Given the description of an element on the screen output the (x, y) to click on. 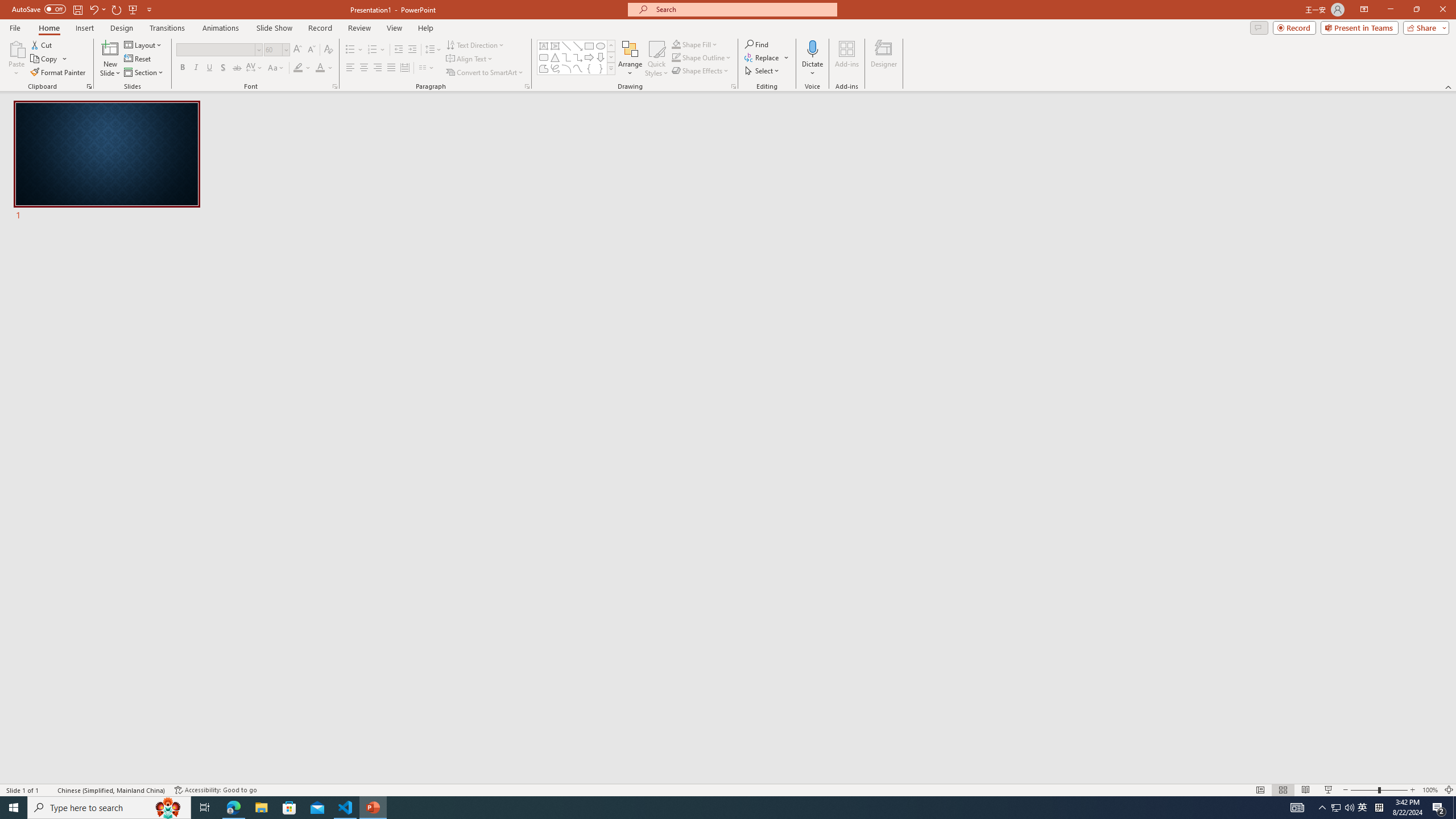
Spell Check  (49, 790)
